Given the description of an element on the screen output the (x, y) to click on. 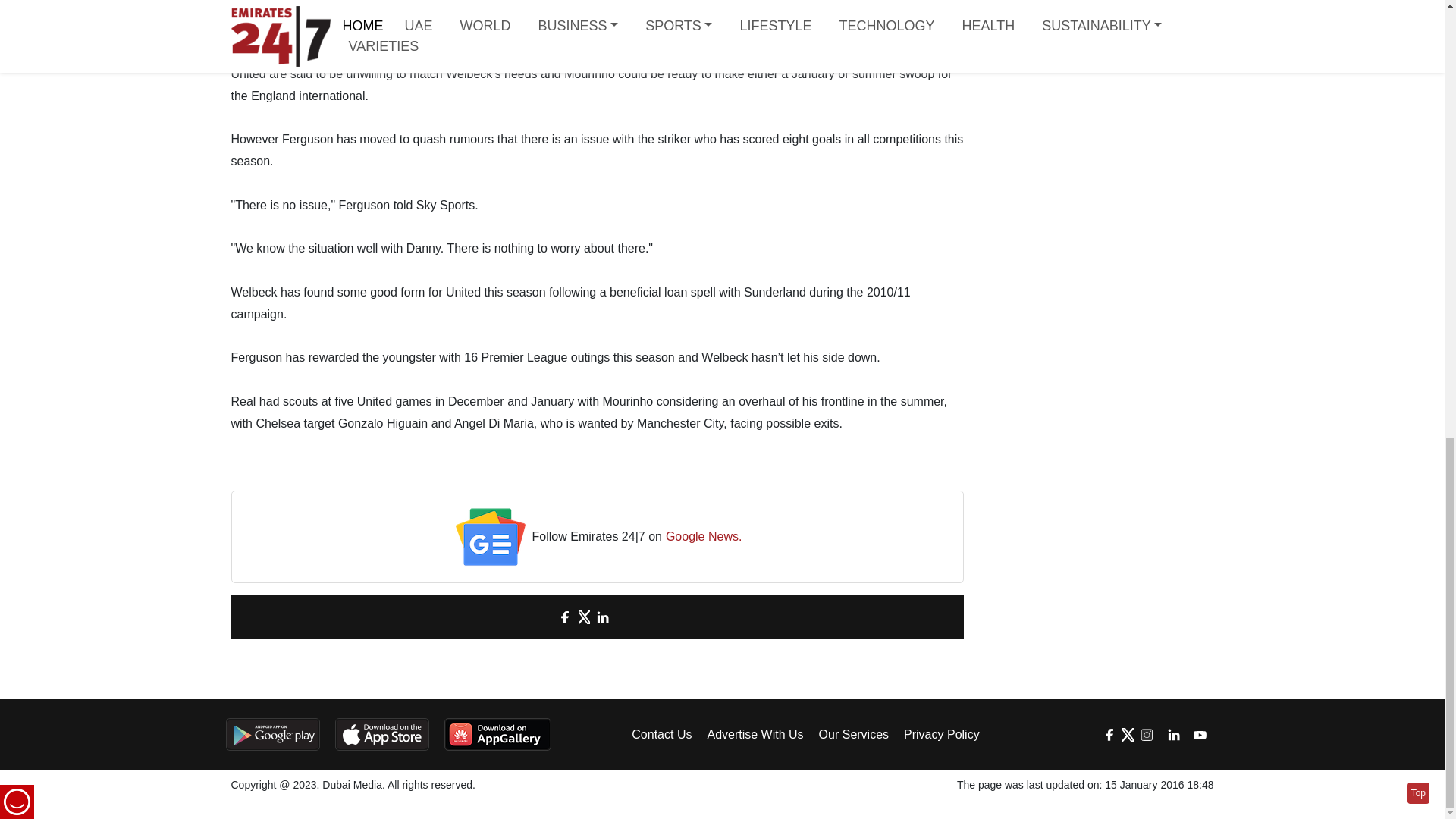
Google News. (703, 536)
